Given the description of an element on the screen output the (x, y) to click on. 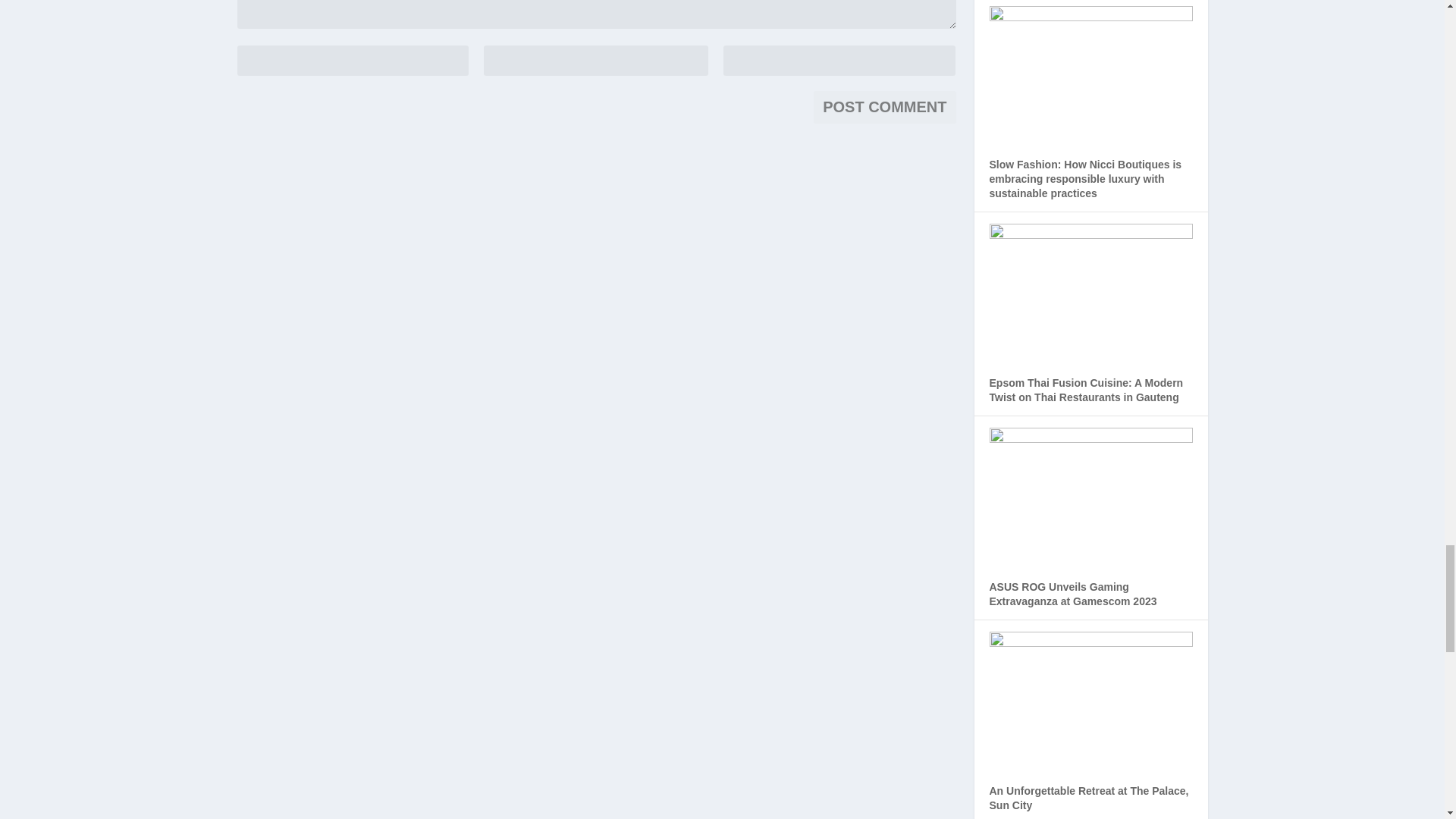
Post Comment (884, 106)
